Given the description of an element on the screen output the (x, y) to click on. 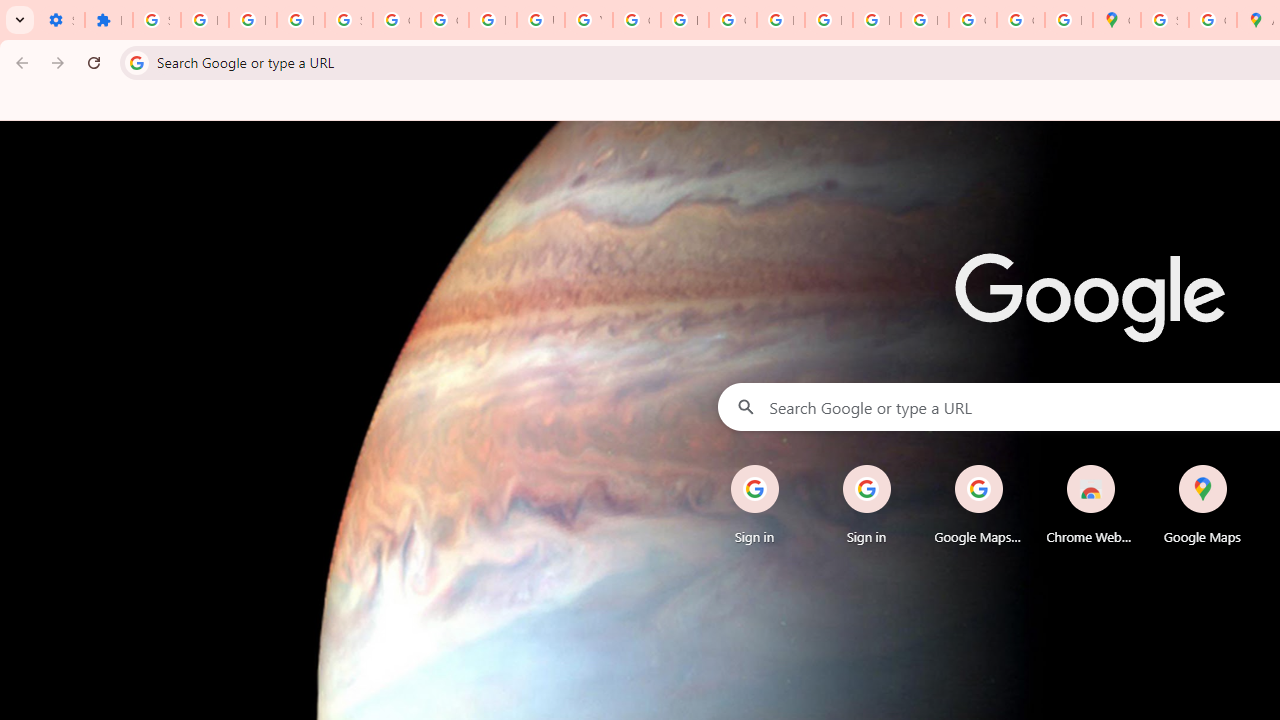
Create your Google Account (1212, 20)
Sign in - Google Accounts (156, 20)
Google Maps Help (978, 504)
Sign in - Google Accounts (348, 20)
YouTube (588, 20)
Google Maps (1202, 504)
Privacy Help Center - Policies Help (780, 20)
